Given the description of an element on the screen output the (x, y) to click on. 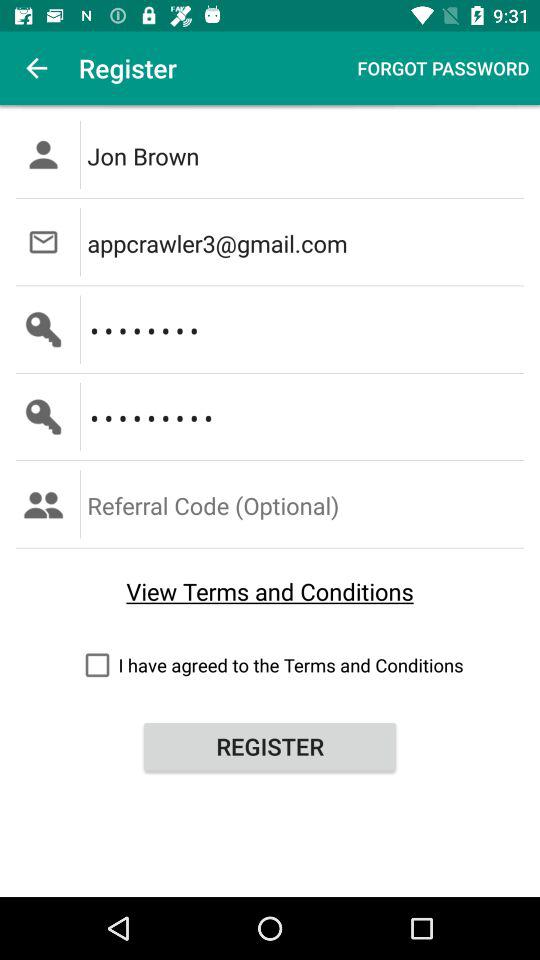
scroll until the jon brown icon (306, 154)
